Given the description of an element on the screen output the (x, y) to click on. 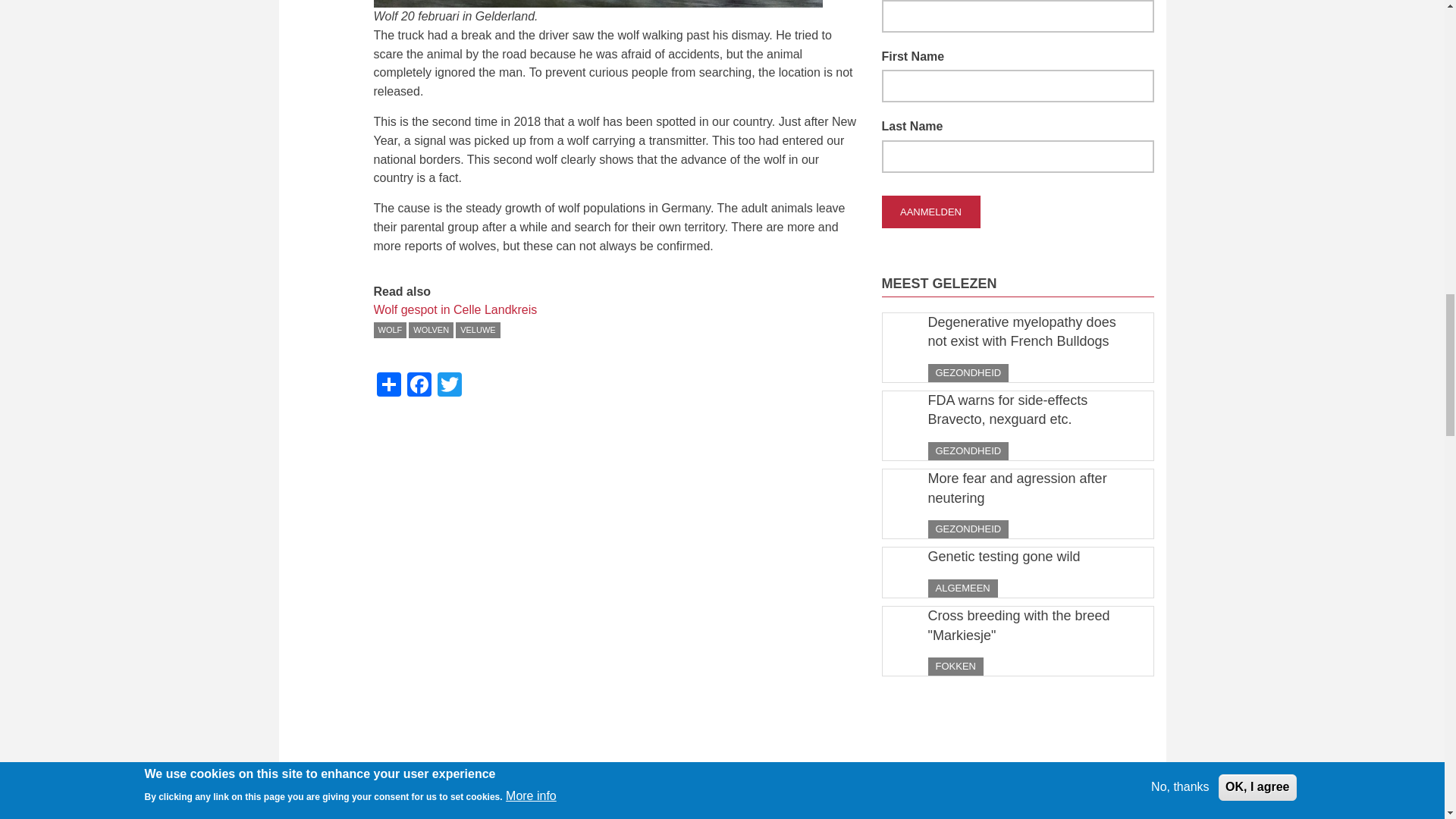
Aanmelden (929, 211)
lijst (1017, 789)
